Given the description of an element on the screen output the (x, y) to click on. 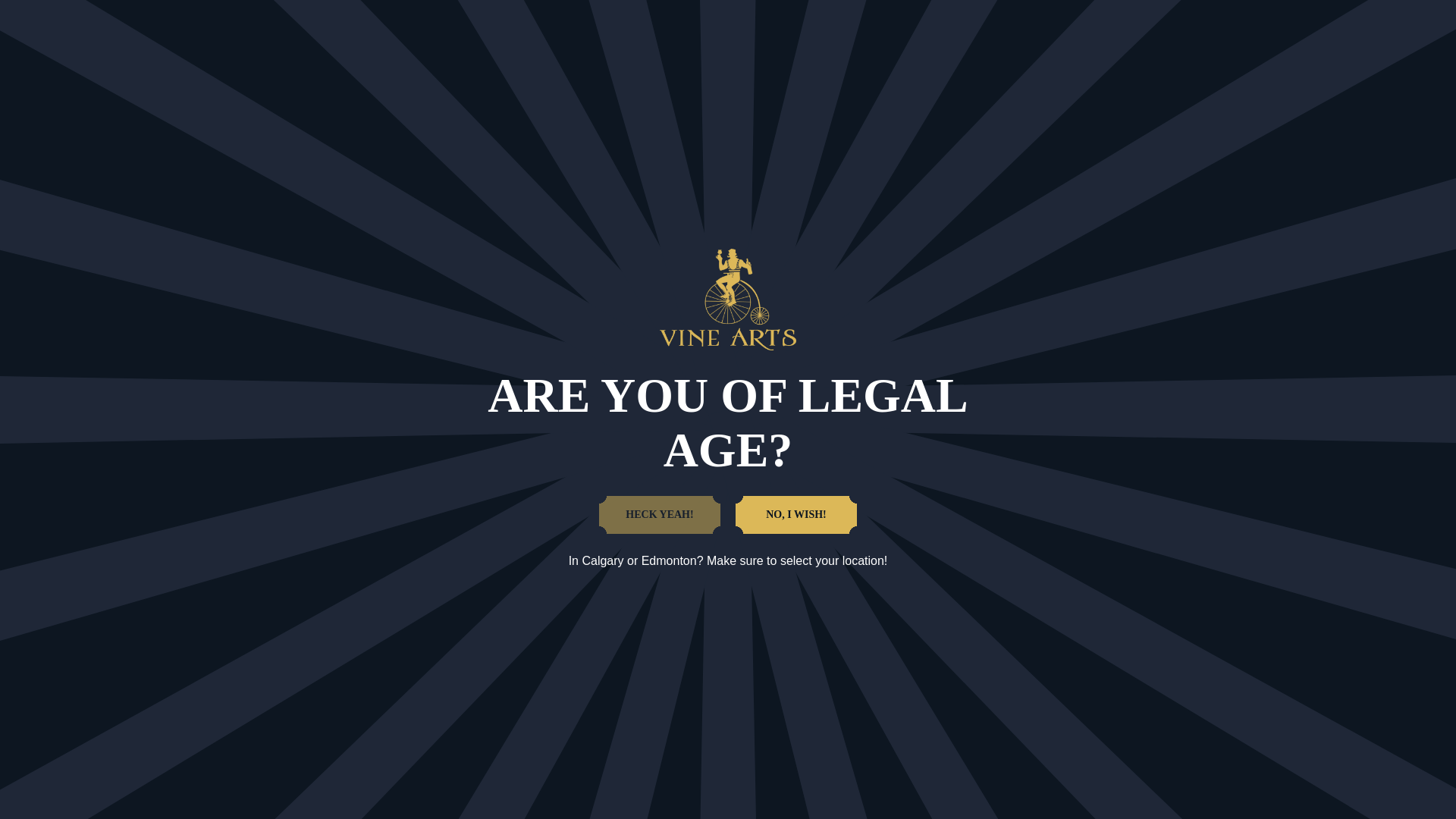
Shop (521, 56)
Tastings (754, 56)
Wine Guides (601, 56)
About (888, 56)
Clubs (684, 56)
SIGN IN (1311, 14)
News (824, 56)
Sale (463, 56)
WISHLIST (1401, 14)
Contact (959, 56)
